Given the description of an element on the screen output the (x, y) to click on. 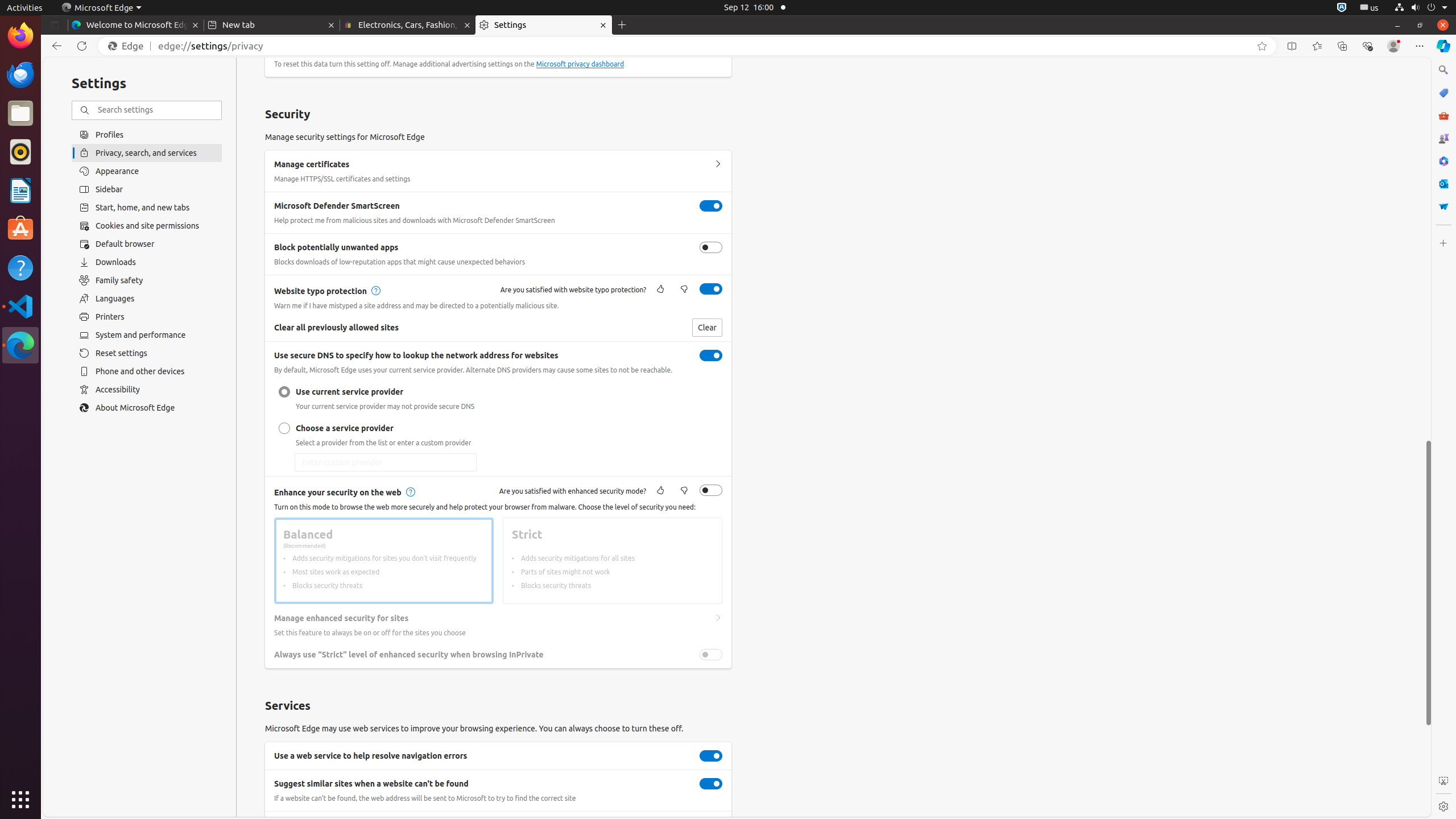
New tab Element type: page-tab (271, 25)
Tools Element type: push-button (1443, 115)
System Element type: menu (1420, 7)
Accessibility Element type: tree-item (146, 389)
Profiles Element type: tree-item (146, 134)
